Given the description of an element on the screen output the (x, y) to click on. 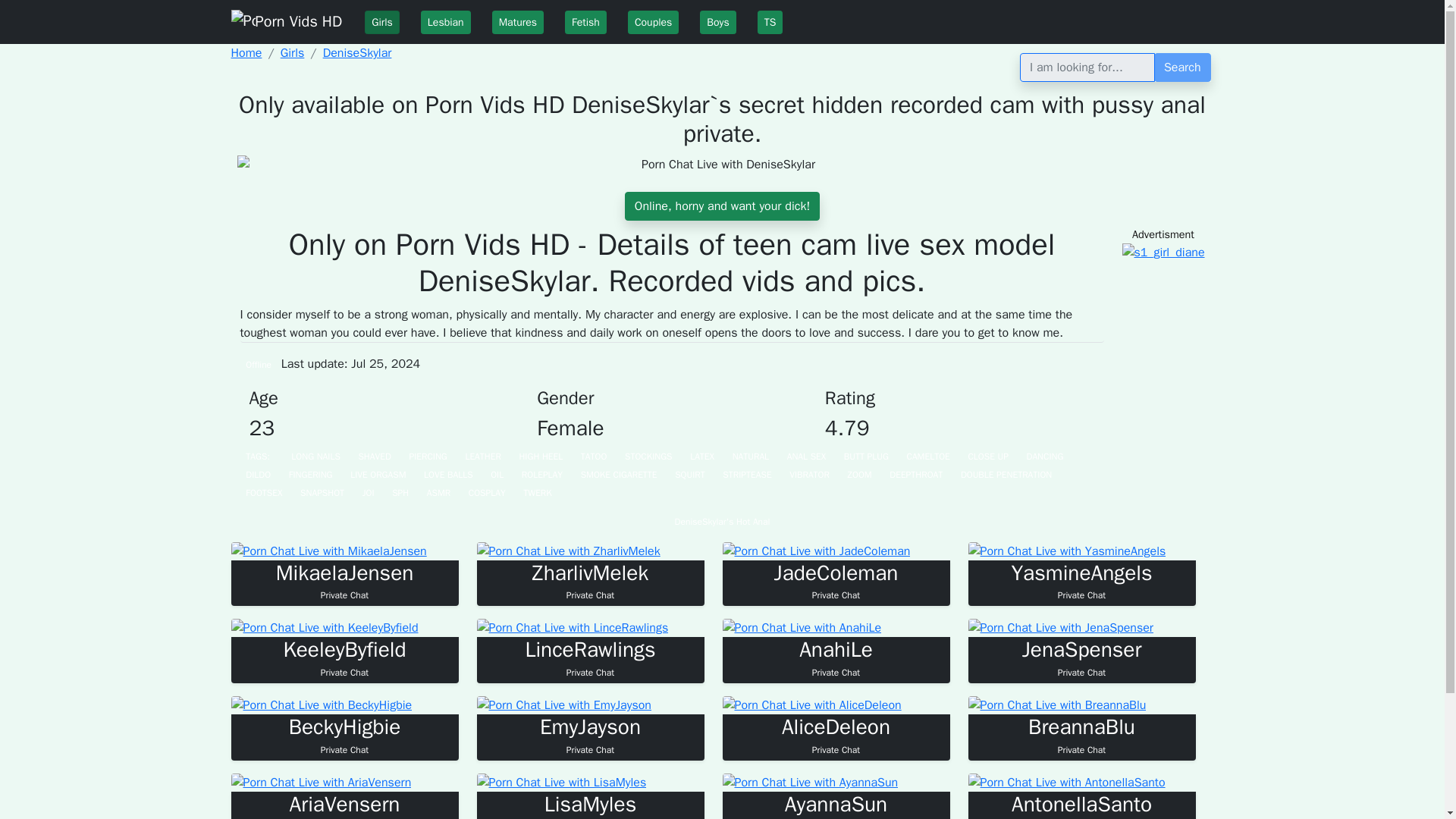
Porn Chat Live with JadeColeman (816, 549)
Boys (717, 22)
Porn Chat Live with MikaelaJensen (328, 549)
DeniseSkylar (357, 52)
Search (1182, 67)
Girls (344, 735)
Online, horny and want your dick! (381, 22)
Couples (721, 205)
Boys (652, 22)
Fetish (717, 22)
Porn Chat Live with YasmineAngels (585, 22)
Porn Chat Live with ZharlivMelek (1067, 549)
Lesbian (589, 581)
TS (445, 22)
